Given the description of an element on the screen output the (x, y) to click on. 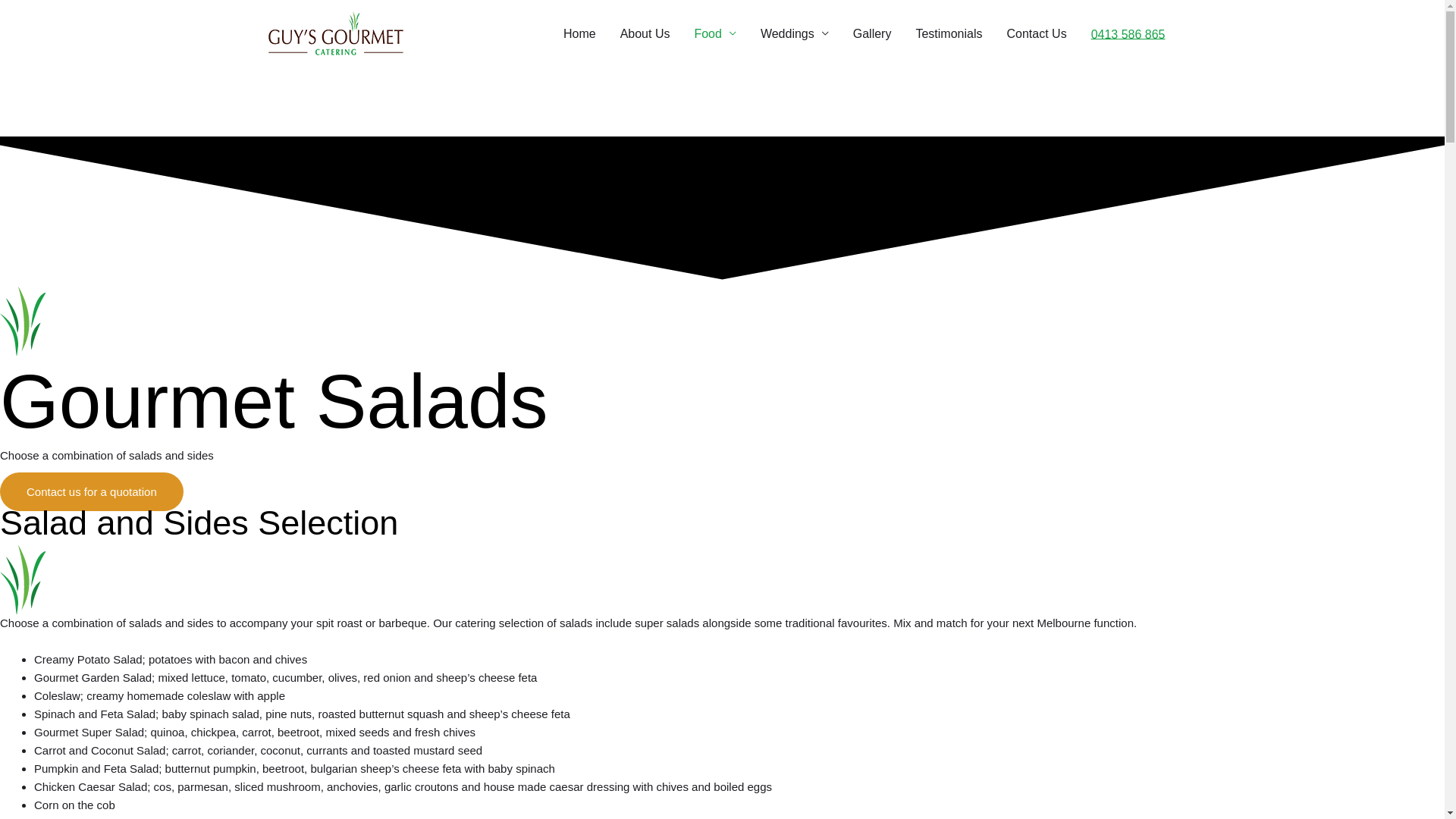
Home Element type: text (579, 34)
About Us Element type: text (645, 34)
Testimonials Element type: text (948, 34)
Contact Us Element type: text (1036, 34)
Gallery Element type: text (871, 34)
0413 586 865 Element type: text (1128, 33)
Contact us for a quotation Element type: text (91, 490)
Weddings Element type: text (794, 34)
Food Element type: text (714, 34)
